Given the description of an element on the screen output the (x, y) to click on. 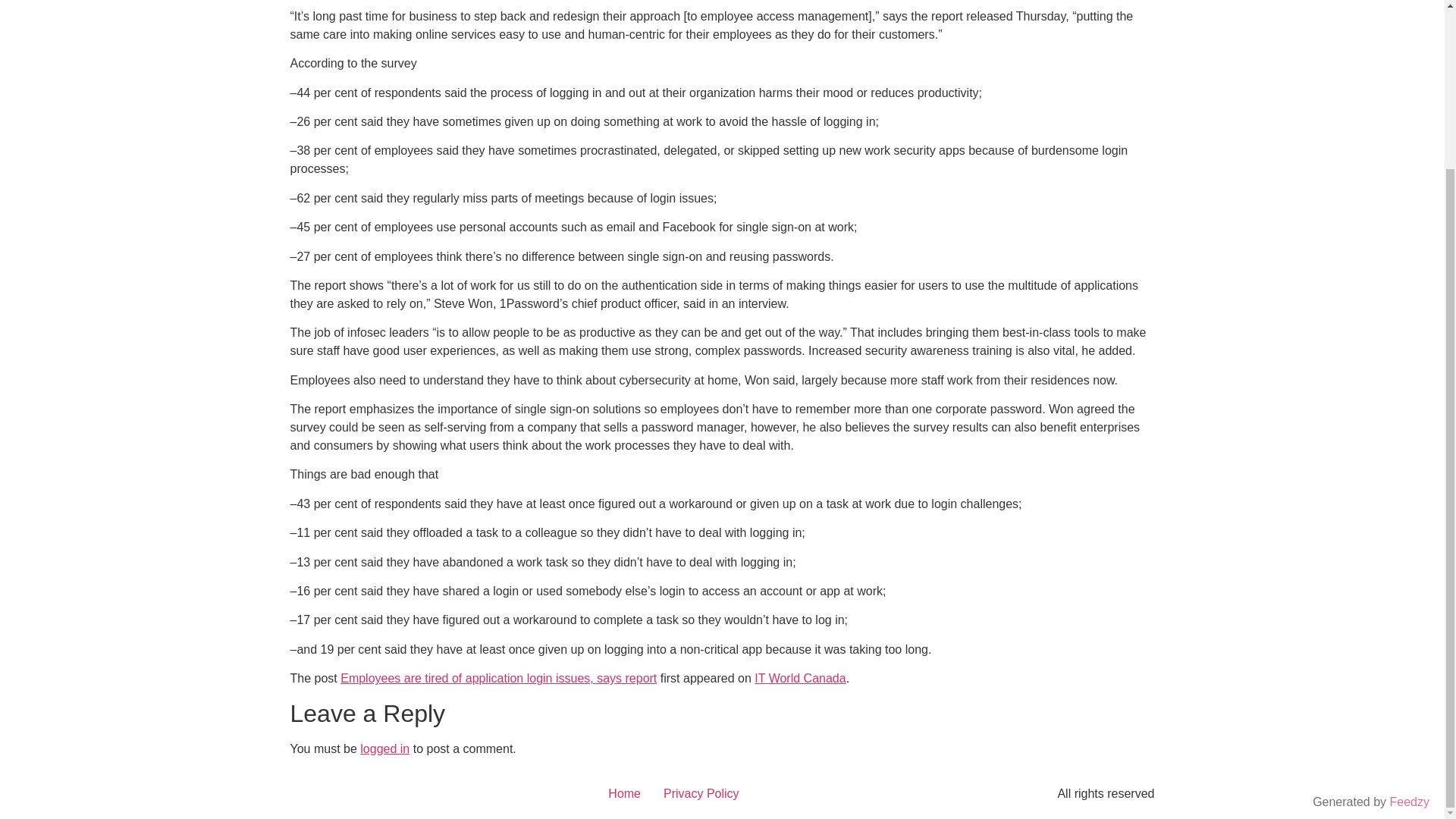
Privacy Policy (701, 793)
IT World Canada (799, 677)
Employees are tired of application login issues, says report (498, 677)
Feedzy (1409, 599)
Home (624, 793)
logged in (384, 748)
